Given the description of an element on the screen output the (x, y) to click on. 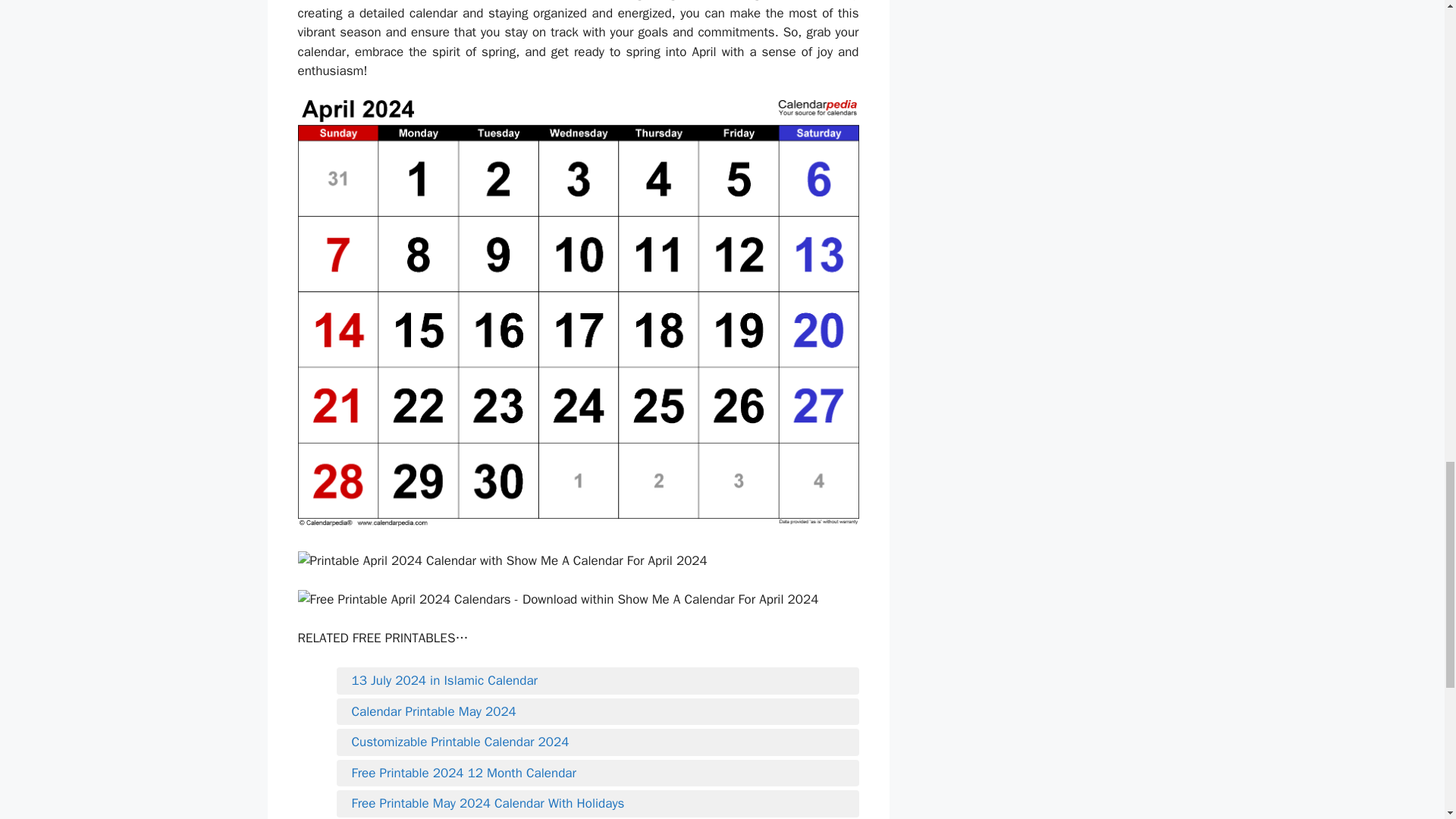
13 July 2024 in Islamic Calendar (597, 680)
Customizable Printable Calendar 2024 (597, 742)
Free Printable 2024 12 Month Calendar (597, 773)
Calendar Printable May 2024 (597, 712)
Free Printable May 2024 Calendar With Holidays (597, 803)
